Given the description of an element on the screen output the (x, y) to click on. 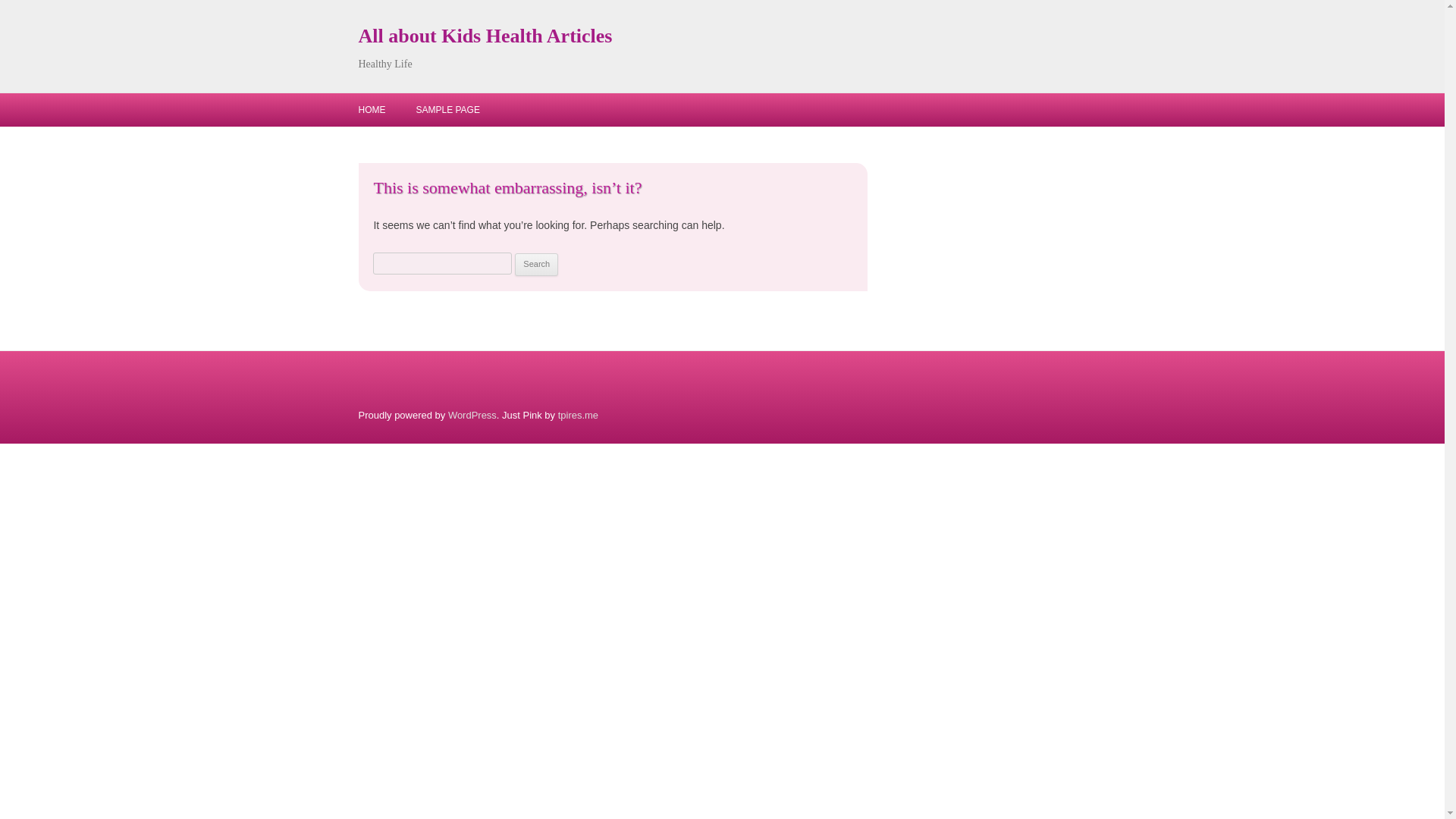
SAMPLE PAGE (446, 109)
tpires.me (577, 414)
All about Kids Health Articles (484, 36)
Search (536, 264)
Search (536, 264)
Semantic Personal Publishing Platform (472, 414)
All about Kids Health Articles (484, 36)
WordPress (472, 414)
